Given the description of an element on the screen output the (x, y) to click on. 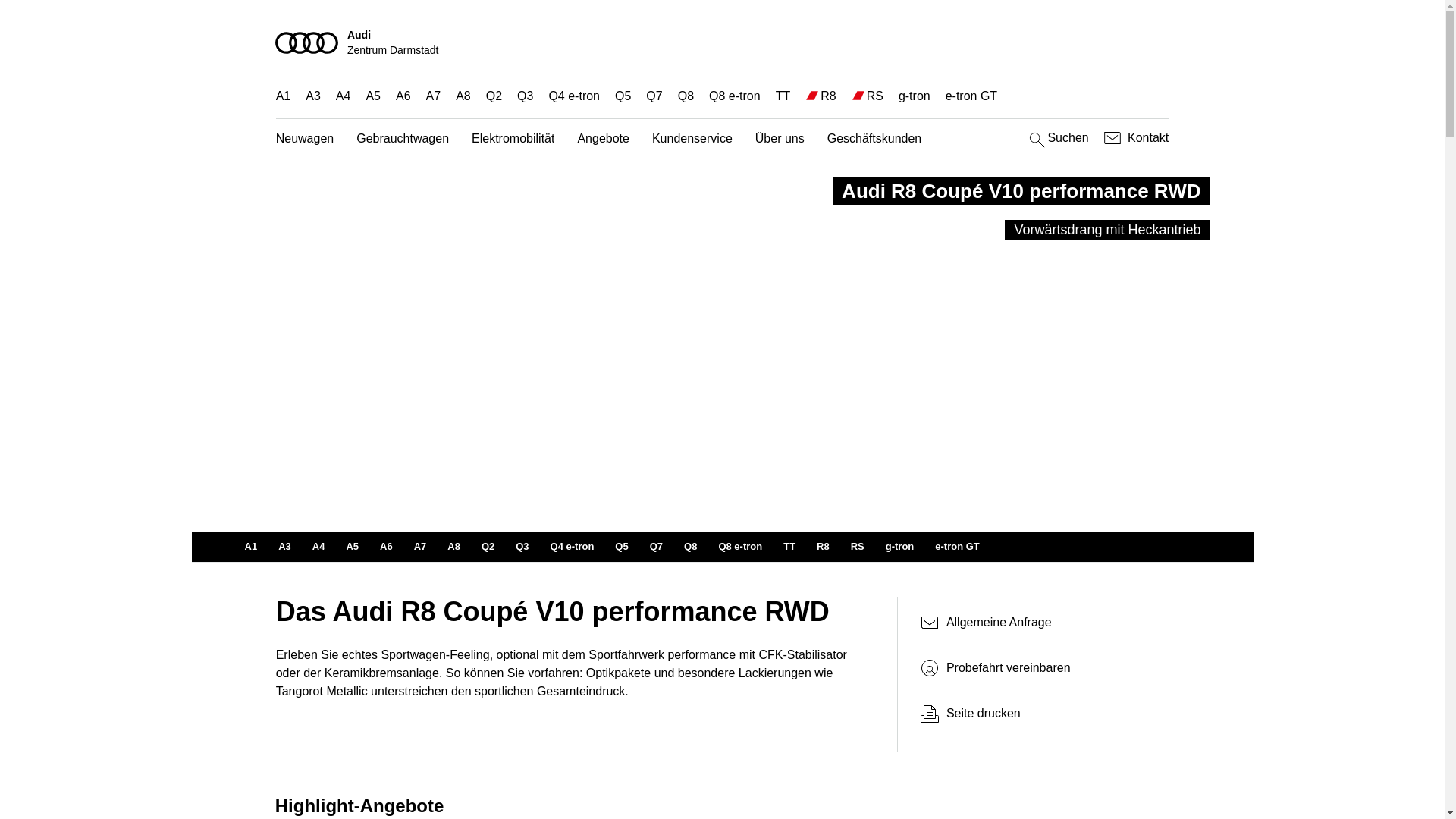
A7 Element type: text (433, 95)
Q7 Element type: text (656, 546)
TT Element type: text (789, 546)
Q8 Element type: text (690, 546)
A6 Element type: text (386, 546)
A4 Element type: text (343, 95)
Q3 Element type: text (525, 95)
A4 Element type: text (318, 546)
Q8 Element type: text (685, 95)
A8 Element type: text (462, 95)
TT Element type: text (782, 95)
e-tron GT Element type: text (971, 95)
Q2 Element type: text (494, 95)
g-tron Element type: text (900, 546)
RS Element type: text (857, 546)
R8 Element type: text (823, 546)
e-tron GT Element type: text (957, 546)
A1 Element type: text (250, 546)
A5 Element type: text (352, 546)
Q3 Element type: text (522, 546)
g-tron Element type: text (914, 95)
Audi
Zentrum Darmstadt Element type: text (722, 42)
A3 Element type: text (284, 546)
Q5 Element type: text (621, 546)
Q8 e-tron Element type: text (739, 546)
A5 Element type: text (372, 95)
Seite drucken Element type: text (1044, 713)
A1 Element type: text (283, 95)
Gebrauchtwagen Element type: text (402, 139)
Kundenservice Element type: text (692, 139)
A7 Element type: text (420, 546)
Allgemeine Anfrage Element type: text (1038, 622)
A6 Element type: text (403, 95)
Angebote Element type: text (603, 139)
A3 Element type: text (312, 95)
A8 Element type: text (453, 546)
Suchen Element type: text (1056, 138)
Q4 e-tron Element type: text (573, 95)
Q2 Element type: text (487, 546)
Q8 e-tron Element type: text (734, 95)
Q4 e-tron Element type: text (572, 546)
Neuwagen Element type: text (305, 139)
Kontakt Element type: text (1134, 138)
Q5 Element type: text (622, 95)
Probefahrt vereinbaren Element type: text (1038, 667)
Q7 Element type: text (654, 95)
RS Element type: text (874, 95)
R8 Element type: text (827, 95)
